Given the description of an element on the screen output the (x, y) to click on. 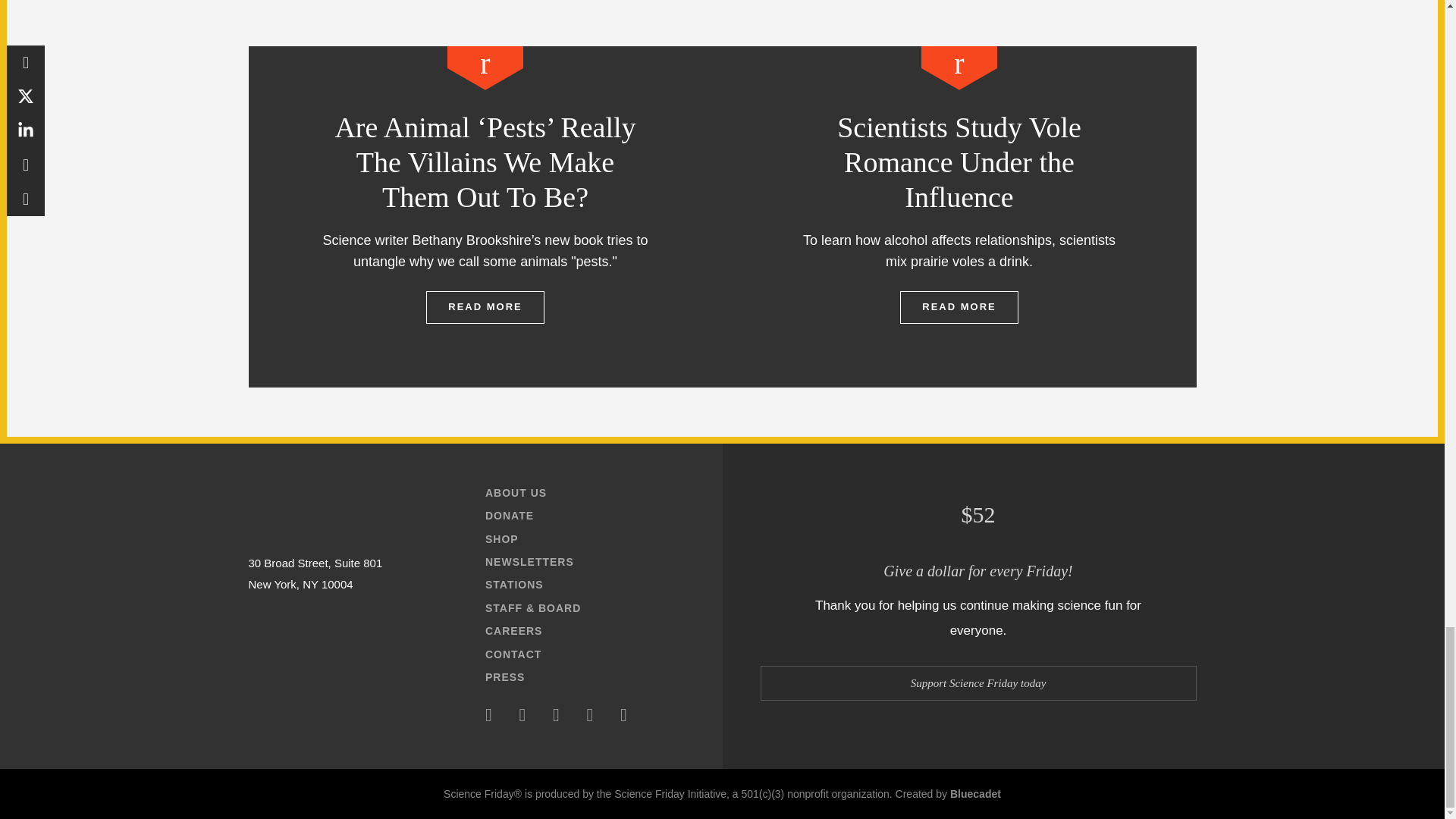
Segment (959, 67)
Read More (958, 306)
Segment (484, 67)
Read More (484, 306)
